Given the description of an element on the screen output the (x, y) to click on. 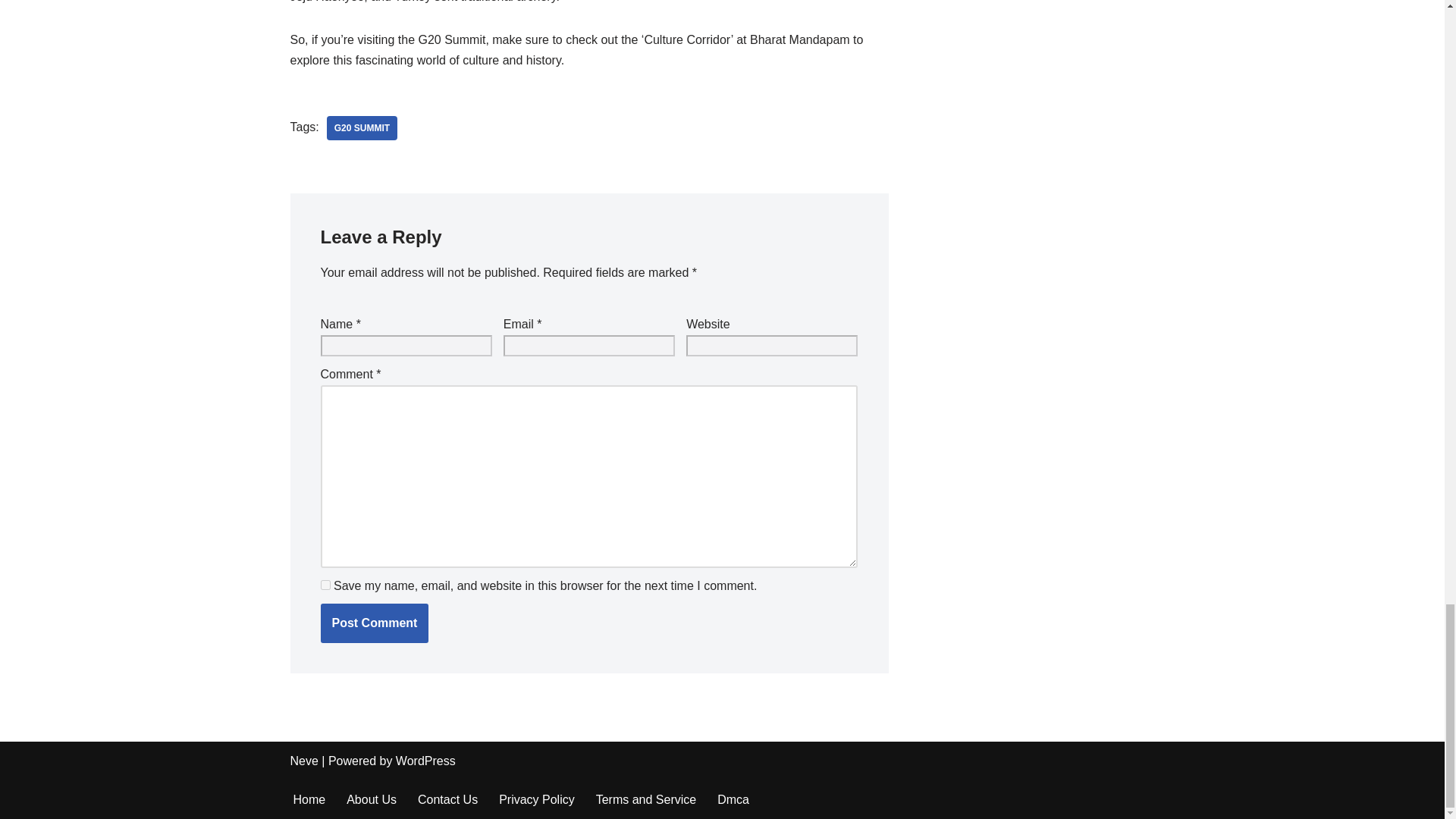
G20 SUMMIT (361, 128)
Post Comment (374, 622)
Post Comment (374, 622)
G20 Summit (361, 128)
yes (325, 584)
